Given the description of an element on the screen output the (x, y) to click on. 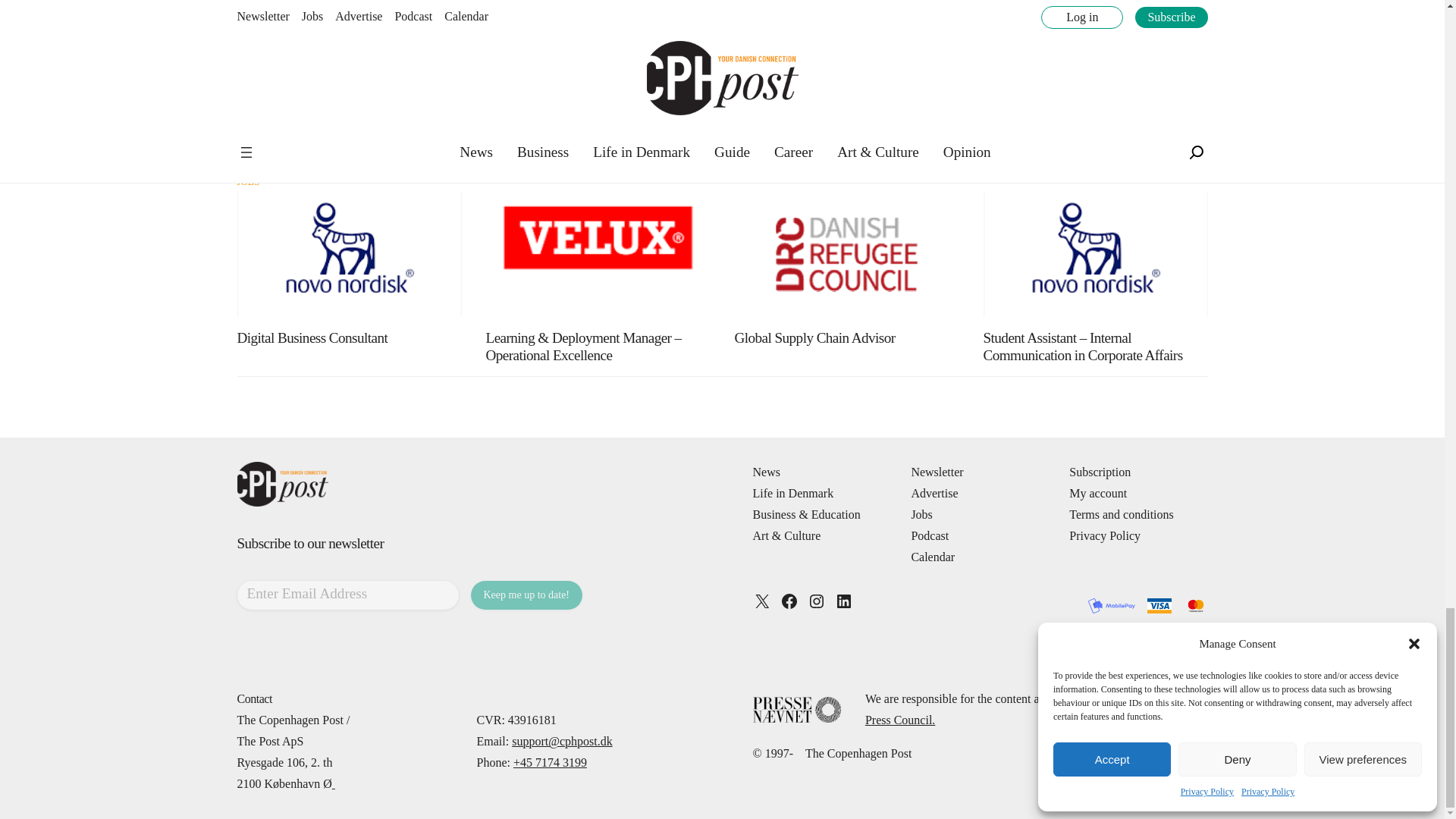
Keep me up to date! (526, 594)
